Given the description of an element on the screen output the (x, y) to click on. 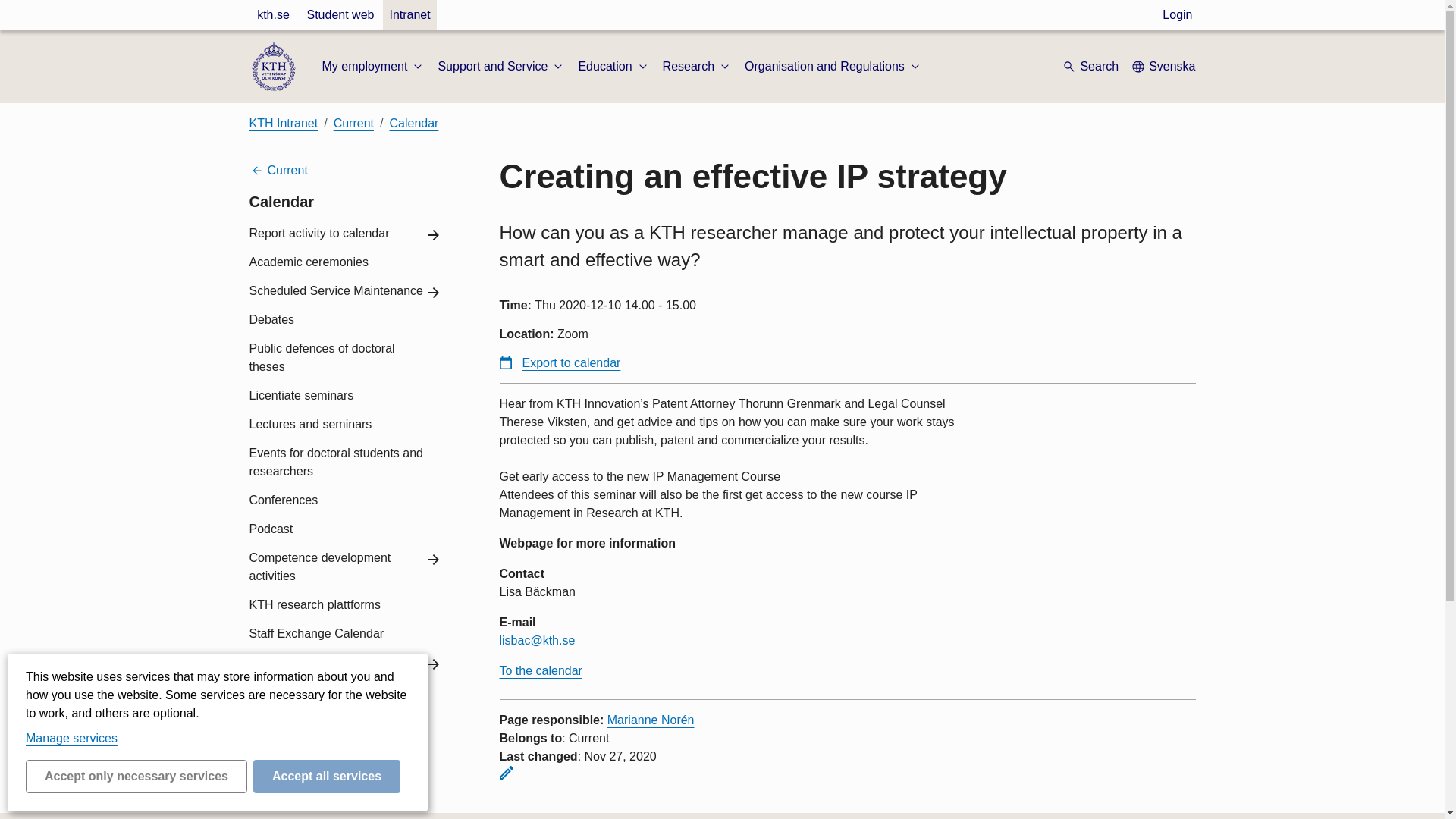
Organisation and Regulations (833, 66)
Login (1176, 15)
Support and Service (502, 66)
Manage services (71, 738)
Student web (339, 15)
Education (613, 66)
Edit this page (505, 772)
Intranet (408, 15)
Accept only necessary services (136, 776)
Research (697, 66)
